Given the description of an element on the screen output the (x, y) to click on. 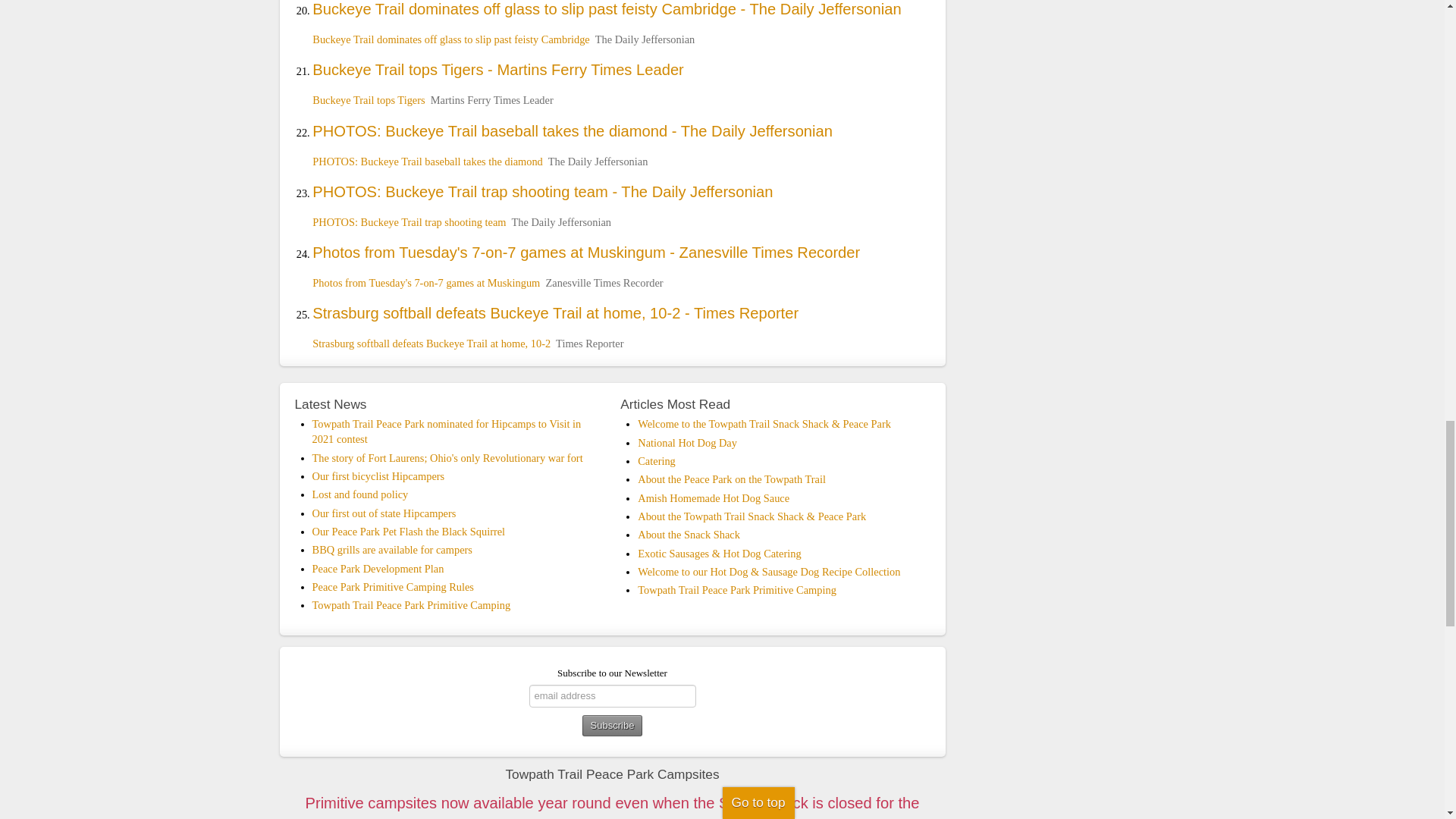
Subscribe (612, 725)
